Given the description of an element on the screen output the (x, y) to click on. 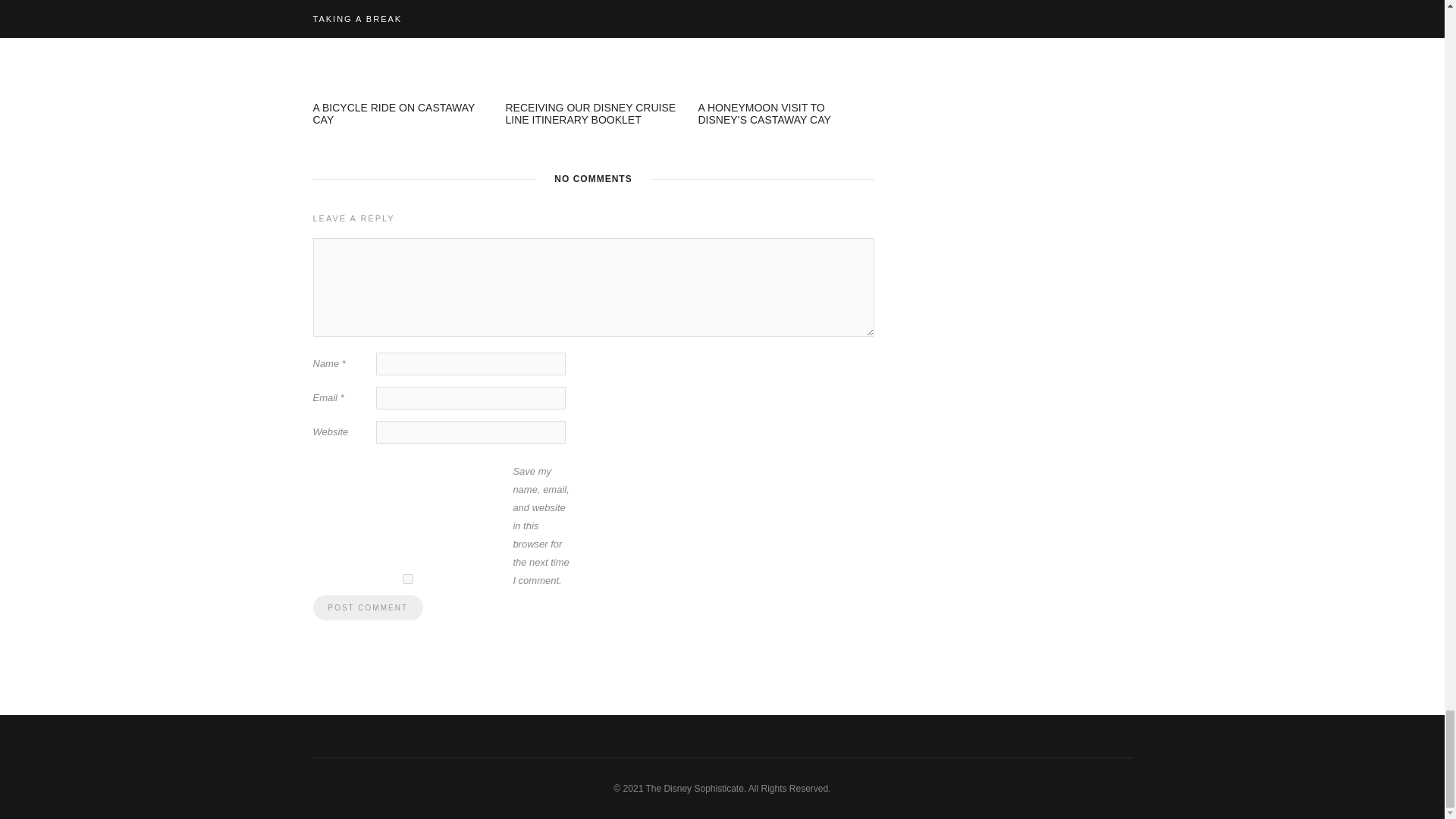
Post Comment (367, 607)
yes (407, 578)
RECEIVING OUR DISNEY CRUISE LINE ITINERARY BOOKLET (590, 113)
Post Comment (367, 607)
A BICYCLE RIDE ON CASTAWAY CAY (393, 113)
